Given the description of an element on the screen output the (x, y) to click on. 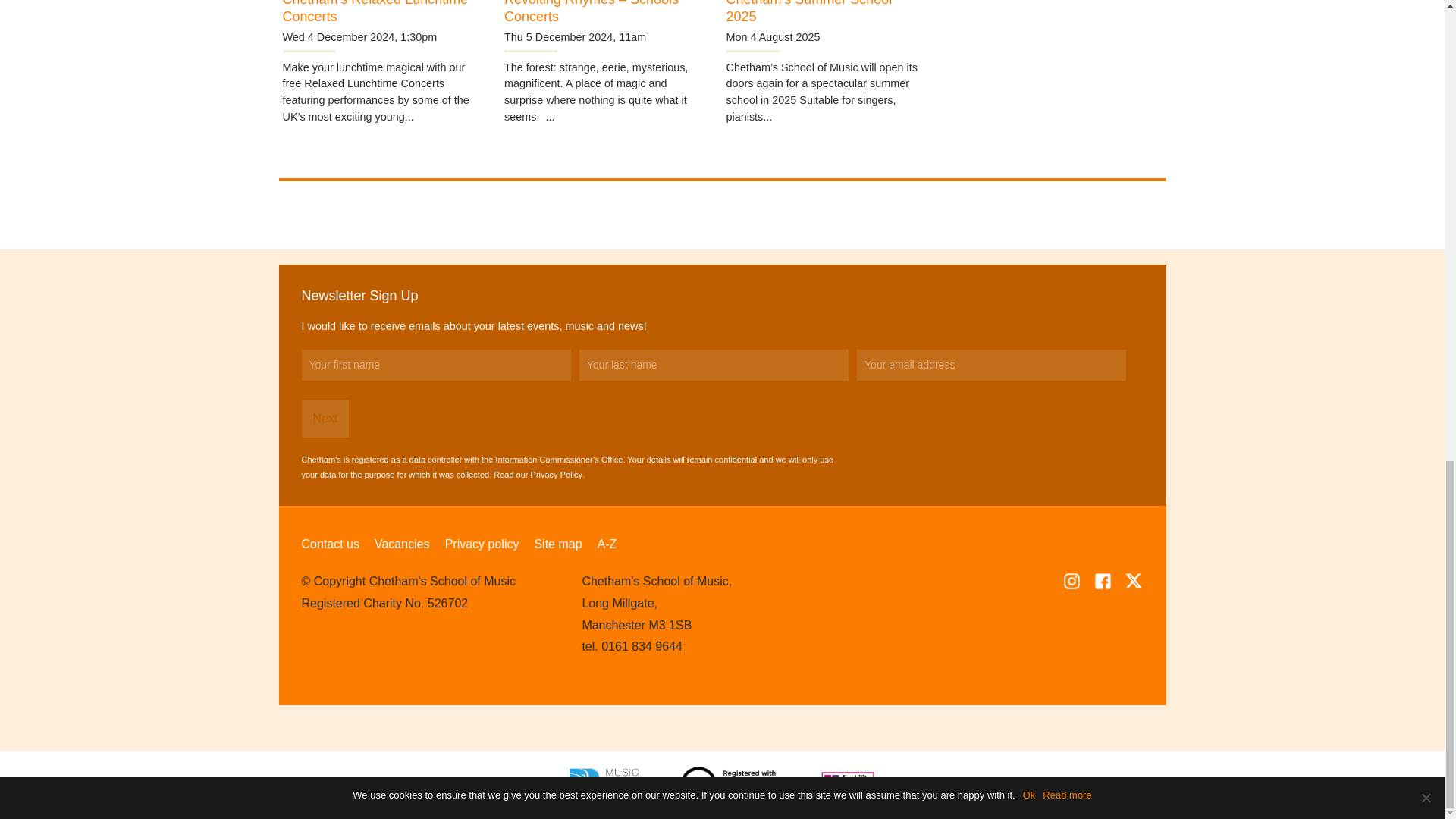
Next (325, 418)
